Given the description of an element on the screen output the (x, y) to click on. 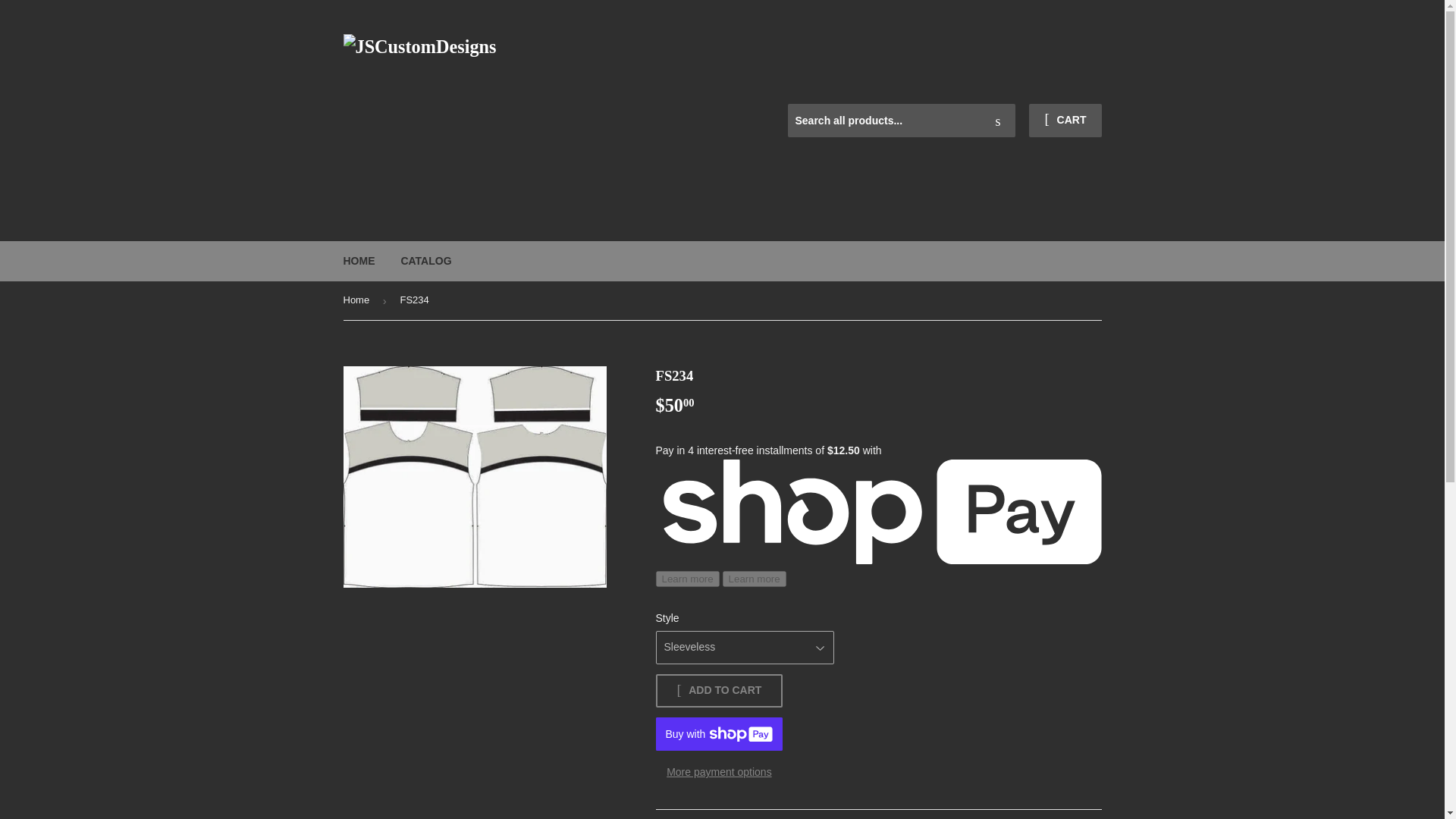
Search (997, 121)
CATALOG (425, 260)
CART (1064, 120)
Back to the frontpage (358, 300)
HOME (359, 260)
More payment options (719, 771)
ADD TO CART (719, 690)
Home (358, 300)
